Given the description of an element on the screen output the (x, y) to click on. 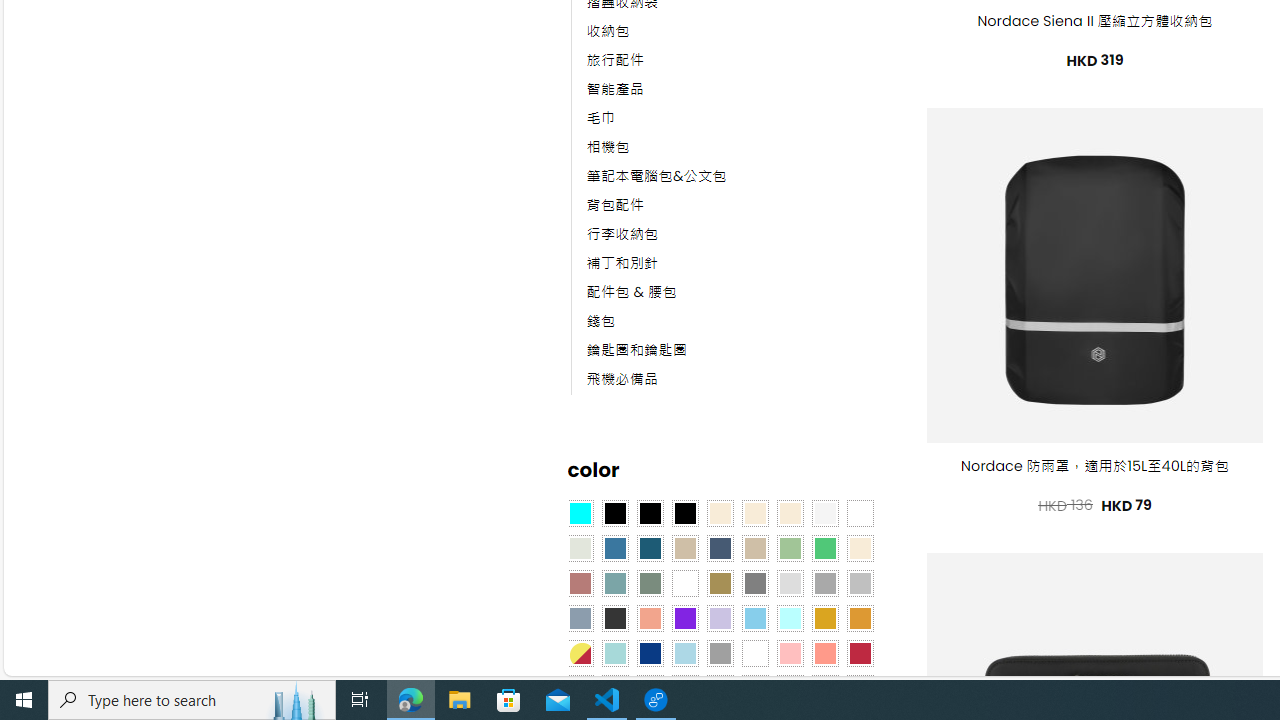
Cream (789, 514)
